Given the description of an element on the screen output the (x, y) to click on. 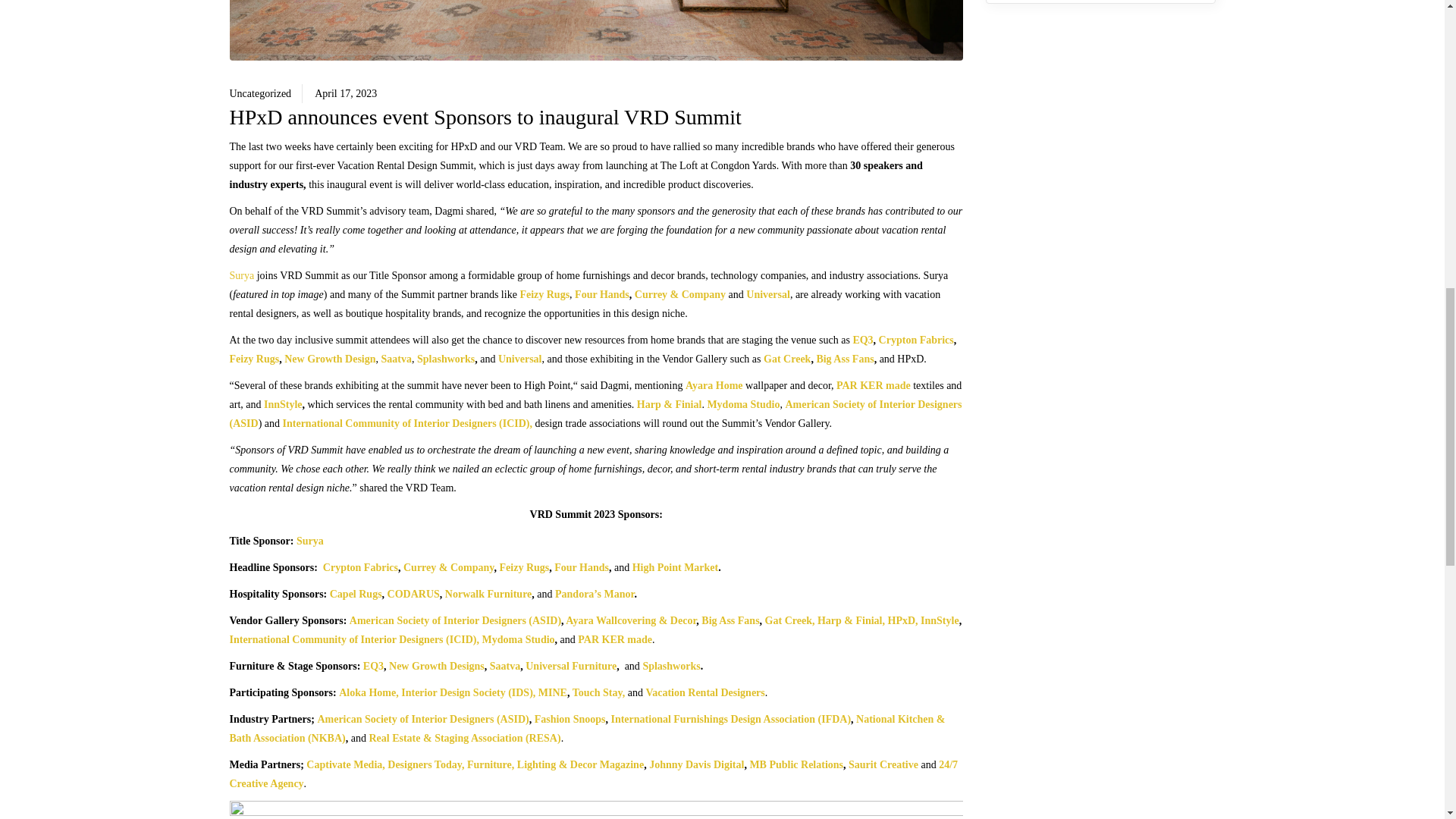
Search for: (1100, 2)
